Given the description of an element on the screen output the (x, y) to click on. 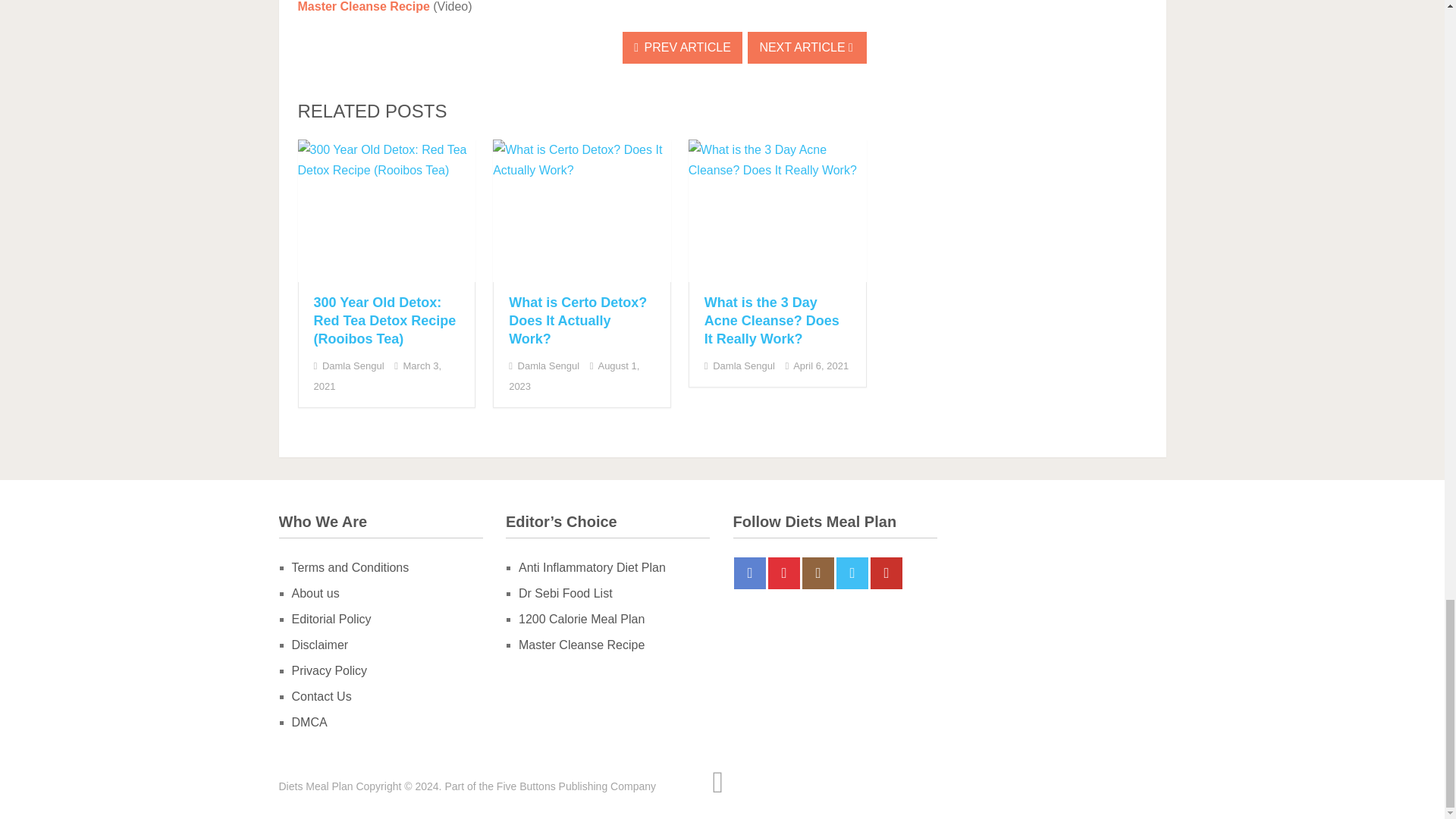
Posts by Damla Sengul (548, 365)
What is Certo Detox? Does It Actually Work? (582, 210)
Posts by Damla Sengul (352, 365)
What is Certo Detox? Does It Actually Work? (577, 320)
What is the 3 Day Acne Cleanse? Does It Really Work? (772, 320)
What is the 3 Day Acne Cleanse? Does It Really Work? (777, 210)
